Given the description of an element on the screen output the (x, y) to click on. 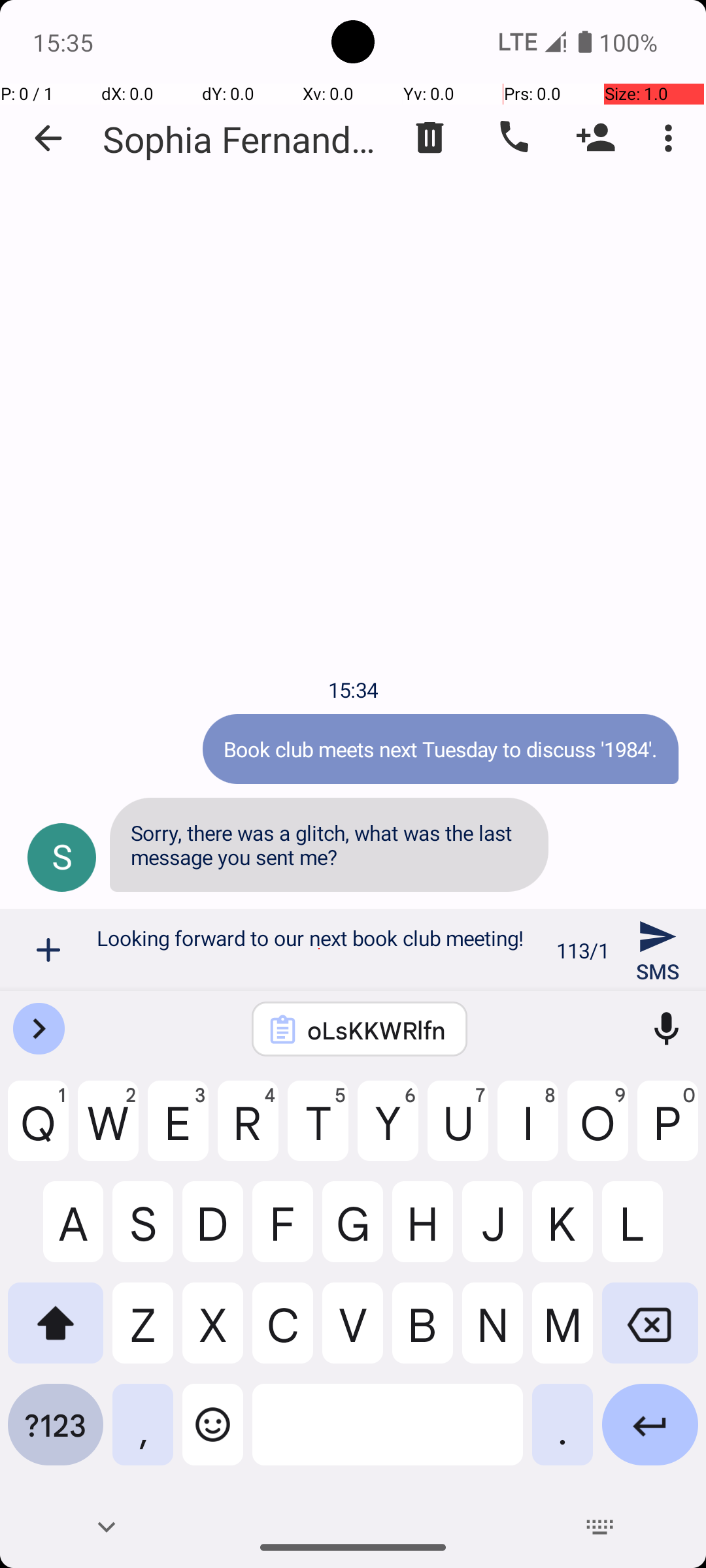
Sophia Fernandez Element type: android.widget.TextView (241, 138)
Looking forward to our next book club meeting!
 Element type: android.widget.EditText (318, 949)
113/1 Element type: android.widget.TextView (582, 950)
Book club meets next Tuesday to discuss '1984'. Element type: android.widget.TextView (440, 749)
oLsKKWRlfn Element type: android.widget.TextView (376, 1029)
